Given the description of an element on the screen output the (x, y) to click on. 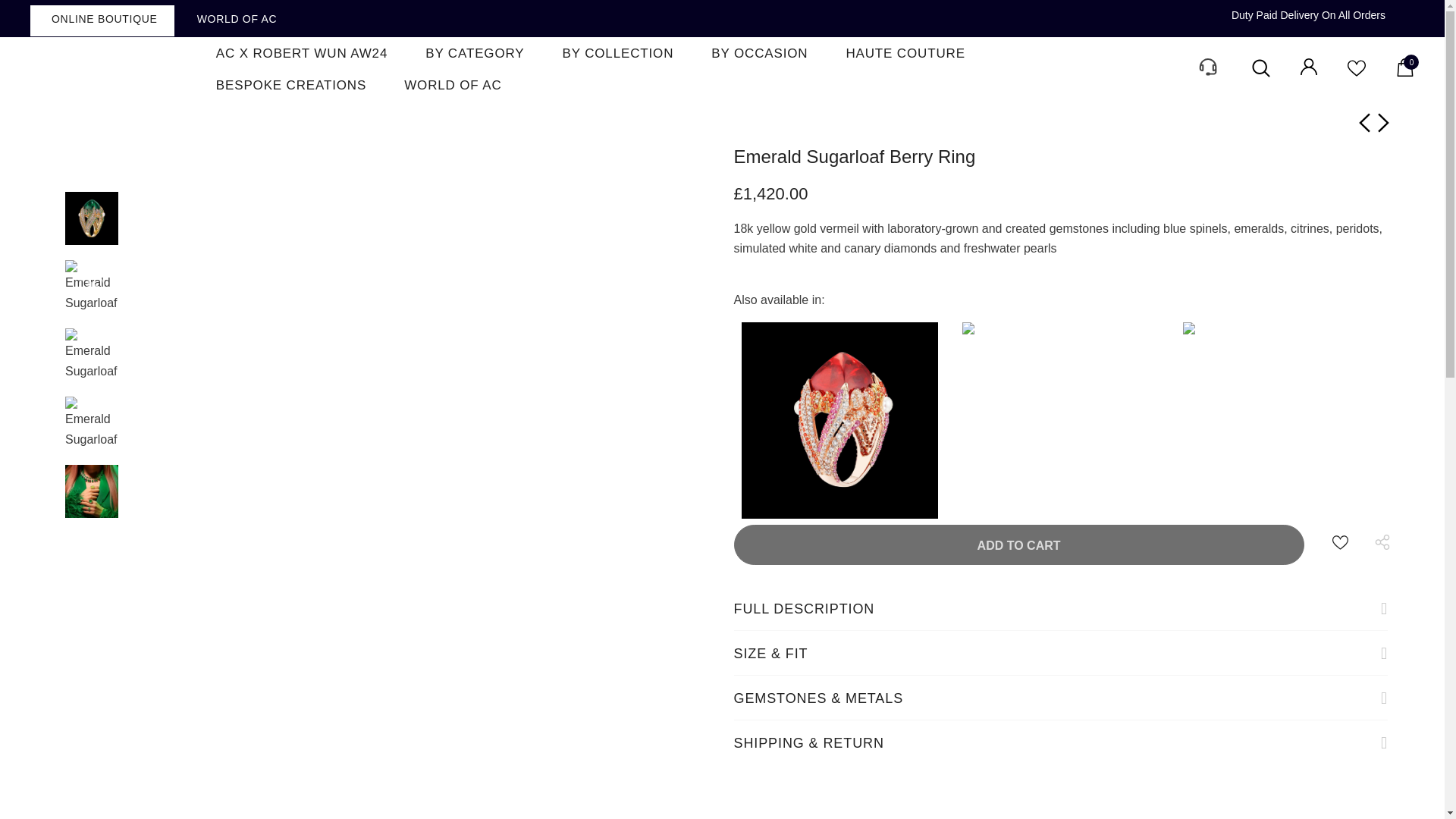
Contact Us (1206, 78)
My Wish Lists (1356, 72)
0 (1404, 72)
WORLD OF AC (235, 17)
AC X ROBERT WUN AW24 (301, 52)
WORLD OF AC (452, 84)
BESPOKE CREATIONS (291, 84)
Search Icon (1260, 68)
ONLINE BOUTIQUE (102, 20)
BY OCCASION (759, 52)
